Given the description of an element on the screen output the (x, y) to click on. 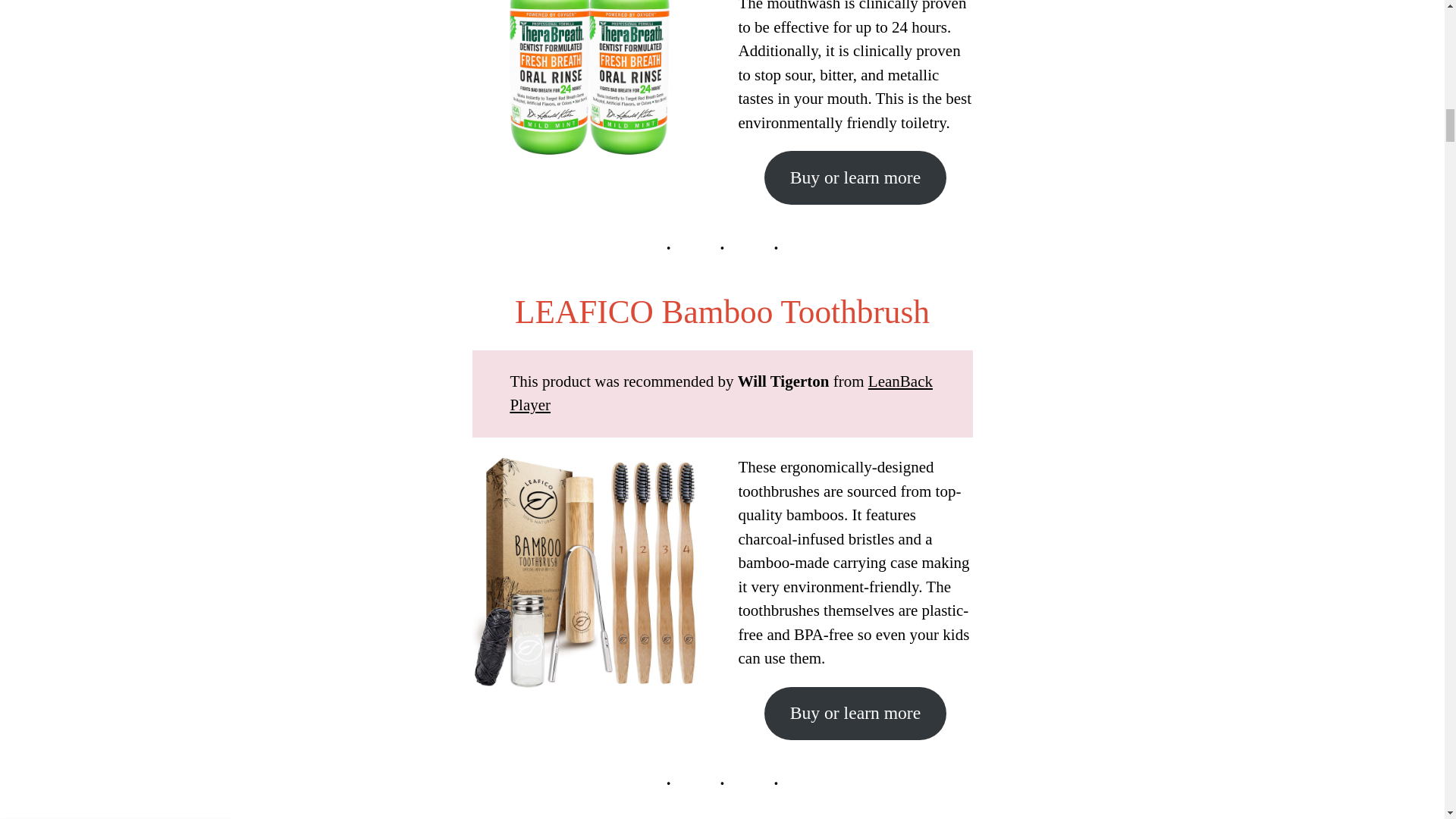
LEAFICO Bamboo Toothbrush (722, 311)
LeanBack Player (721, 393)
Buy or learn more (854, 714)
Buy or learn more (854, 177)
